Given the description of an element on the screen output the (x, y) to click on. 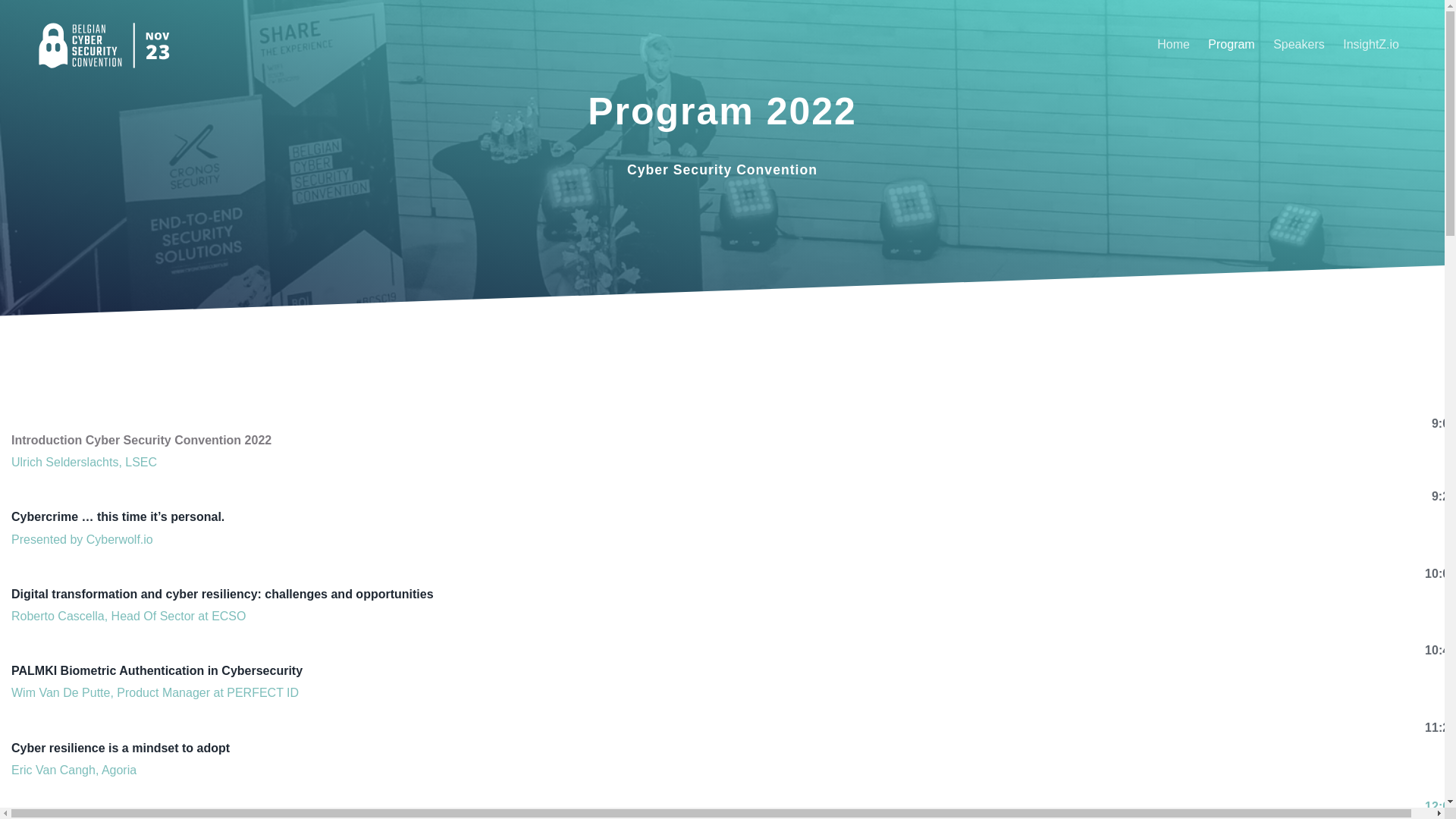
Home Element type: text (1173, 43)
InsightZ.io Element type: text (1370, 43)
Cyber resilience is a mindset to adopt Element type: text (120, 747)
Program Element type: text (1230, 43)
PALMKI Biometric Authentication in Cybersecurity Element type: text (156, 670)
Speakers Element type: text (1298, 43)
